Given the description of an element on the screen output the (x, y) to click on. 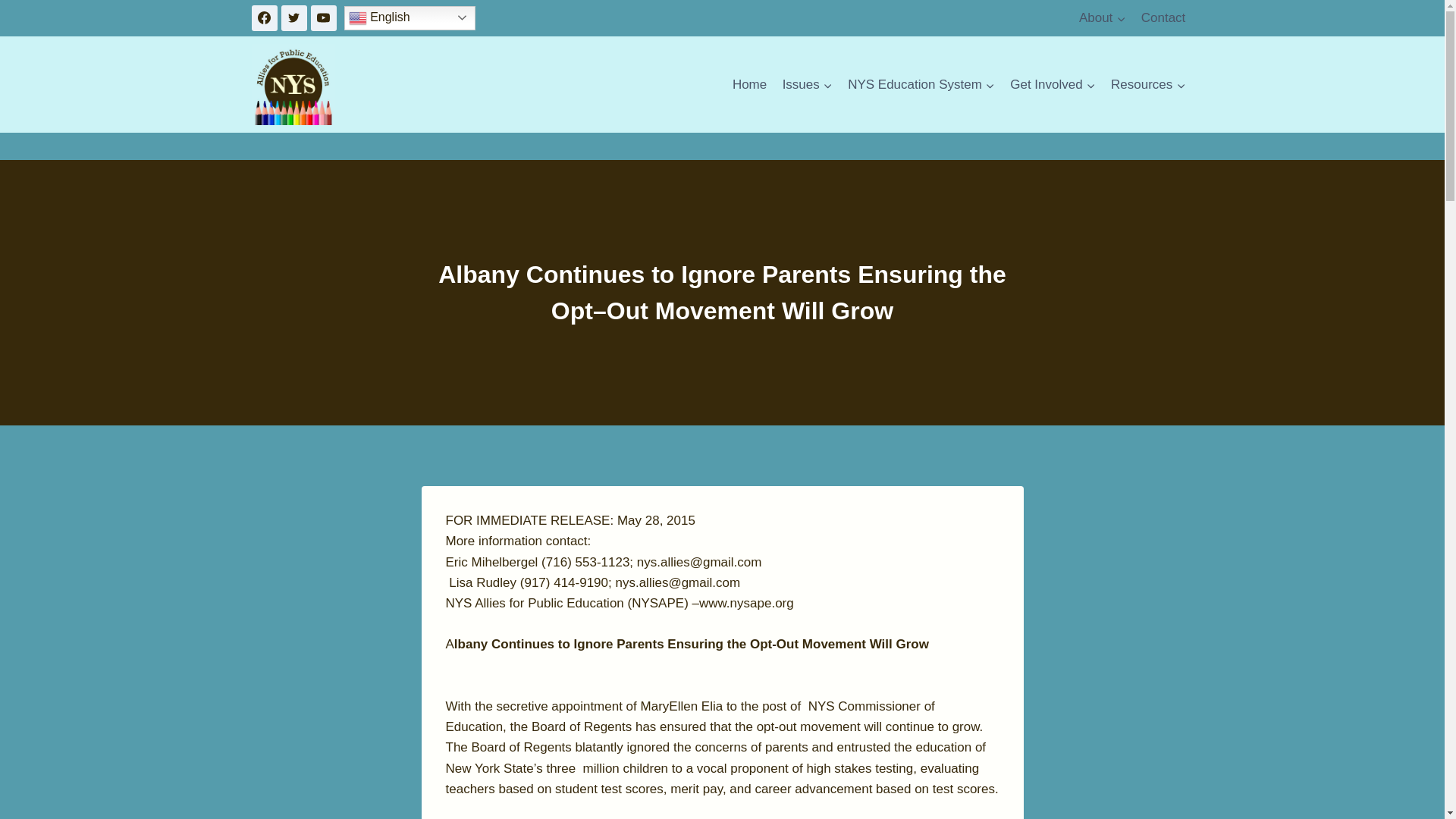
NYS Education System (921, 84)
Issues (807, 84)
Contact (1163, 18)
Home (749, 84)
About (1102, 18)
Get Involved (1053, 84)
English (409, 17)
